Given the description of an element on the screen output the (x, y) to click on. 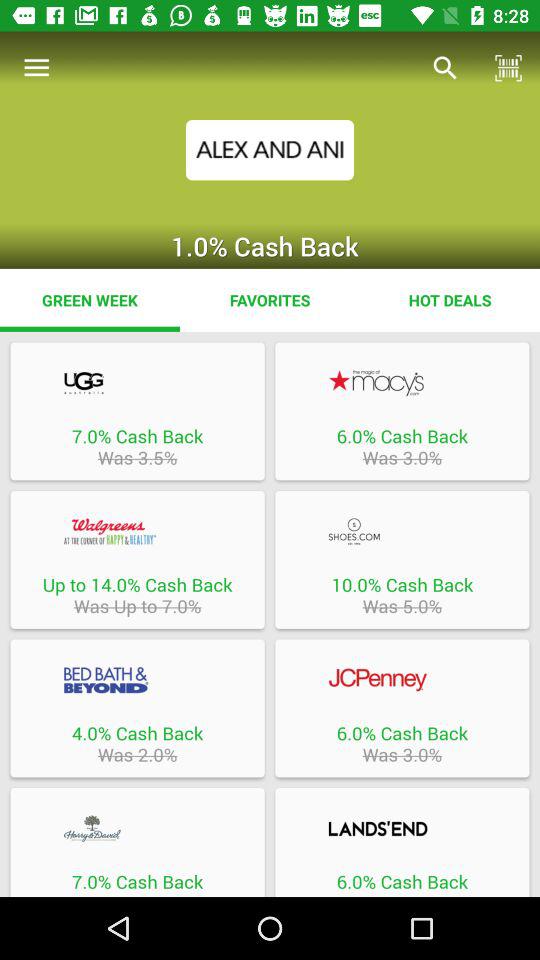
open the brand (137, 828)
